Given the description of an element on the screen output the (x, y) to click on. 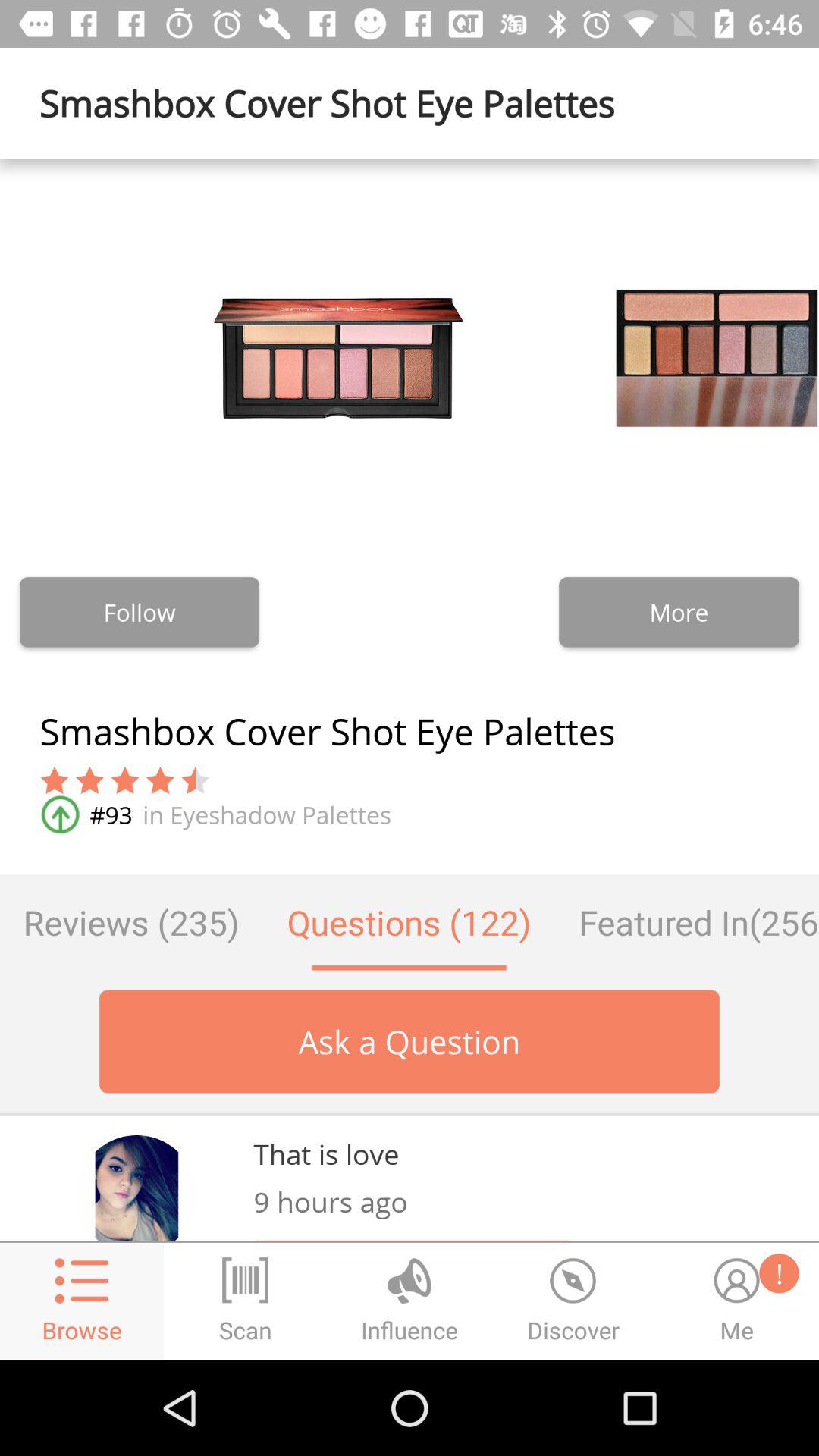
click on more (678, 611)
